Given the description of an element on the screen output the (x, y) to click on. 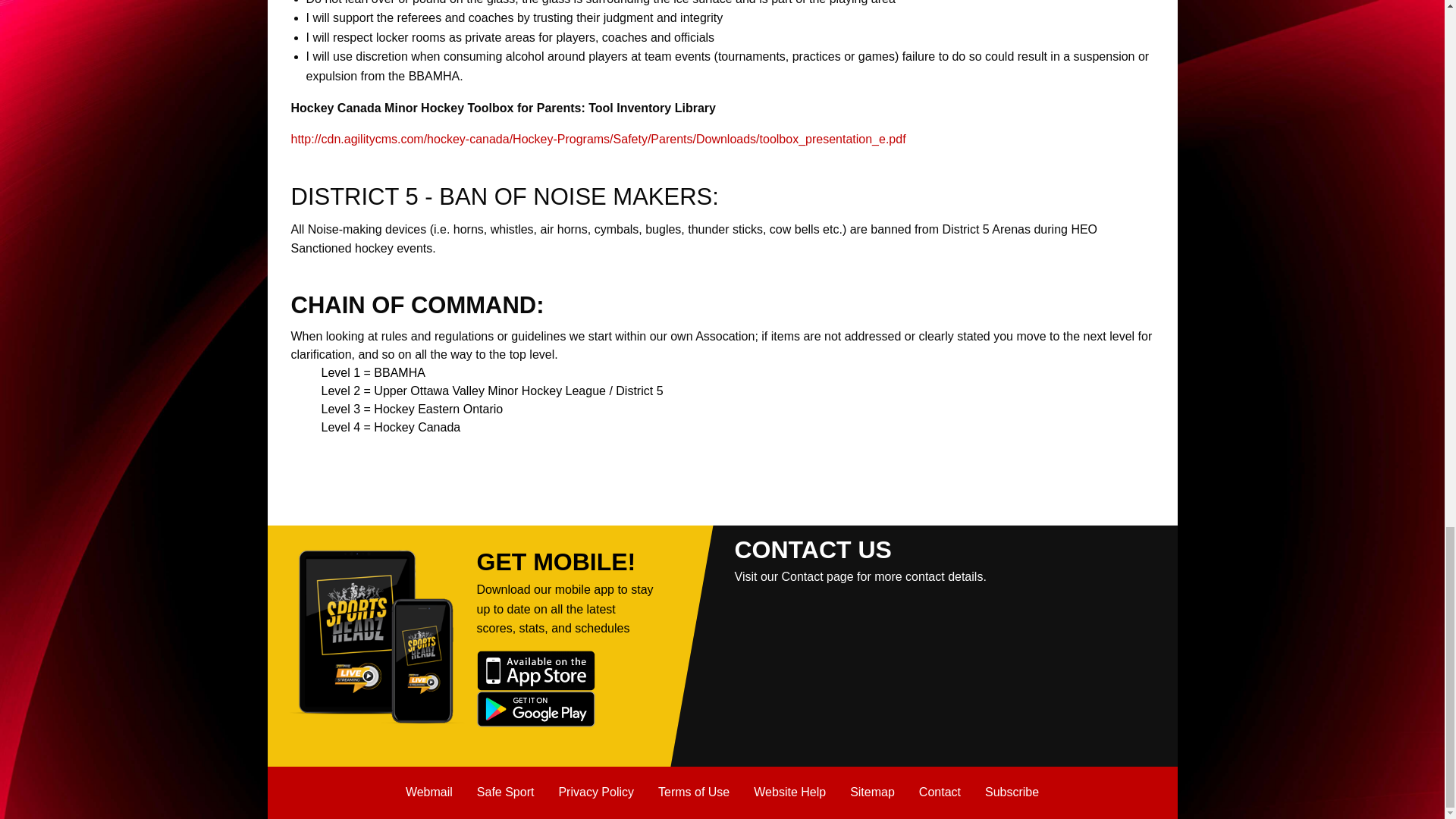
Download the Sportsheadz App from the Apple App Store (535, 669)
Download the Sportsheadz App from the Google Play Store (535, 707)
